Given the description of an element on the screen output the (x, y) to click on. 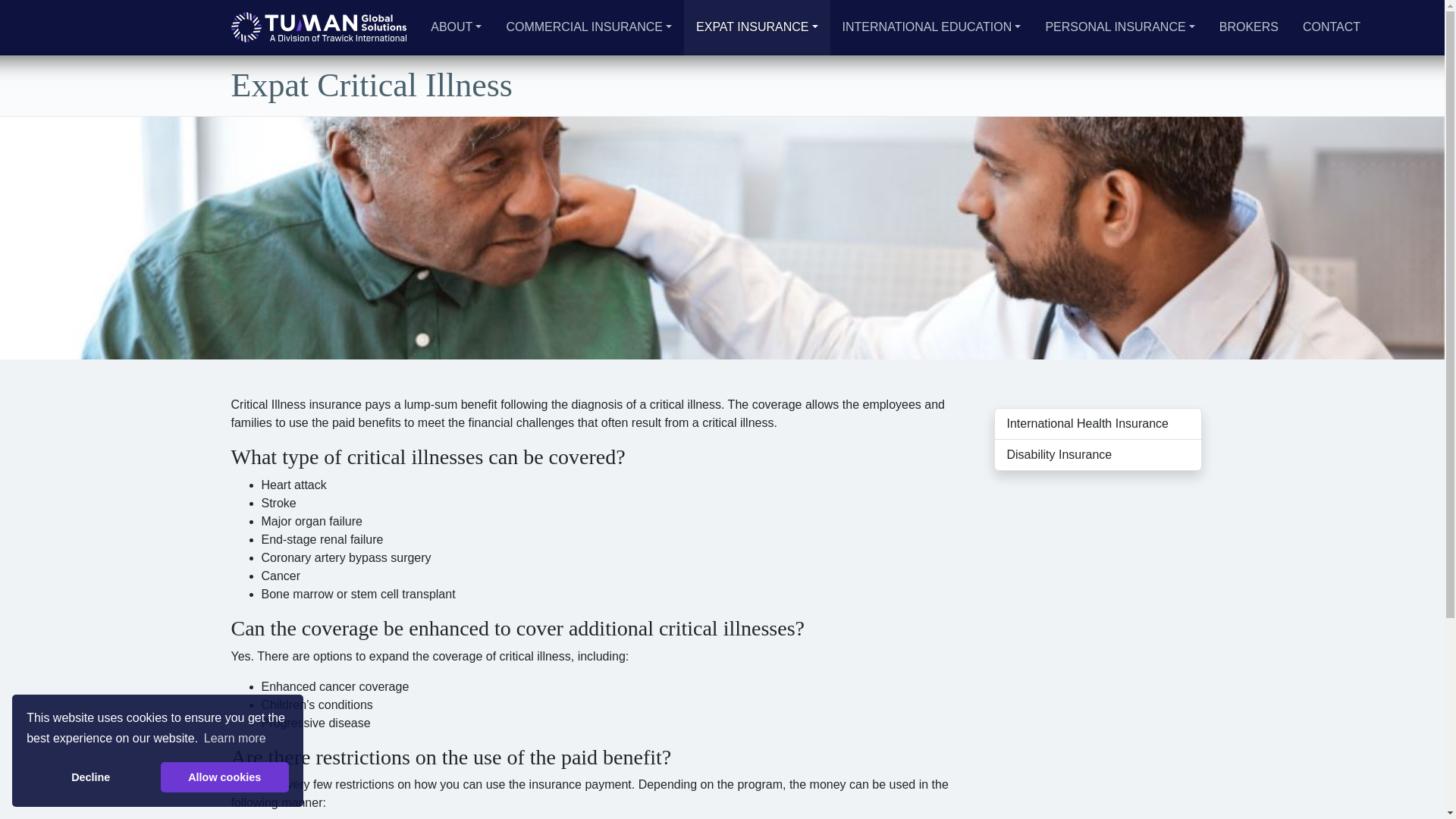
Decline (90, 777)
COMMERCIAL INSURANCE (588, 27)
INTERNATIONAL EDUCATION (931, 27)
Allow cookies (224, 777)
PERSONAL INSURANCE (1119, 27)
Disability Insurance (1096, 454)
BROKERS (1248, 27)
EXPAT INSURANCE (756, 27)
International Health Insurance (1096, 423)
Learn more (234, 738)
ABOUT (456, 27)
CONTACT (1331, 27)
